Given the description of an element on the screen output the (x, y) to click on. 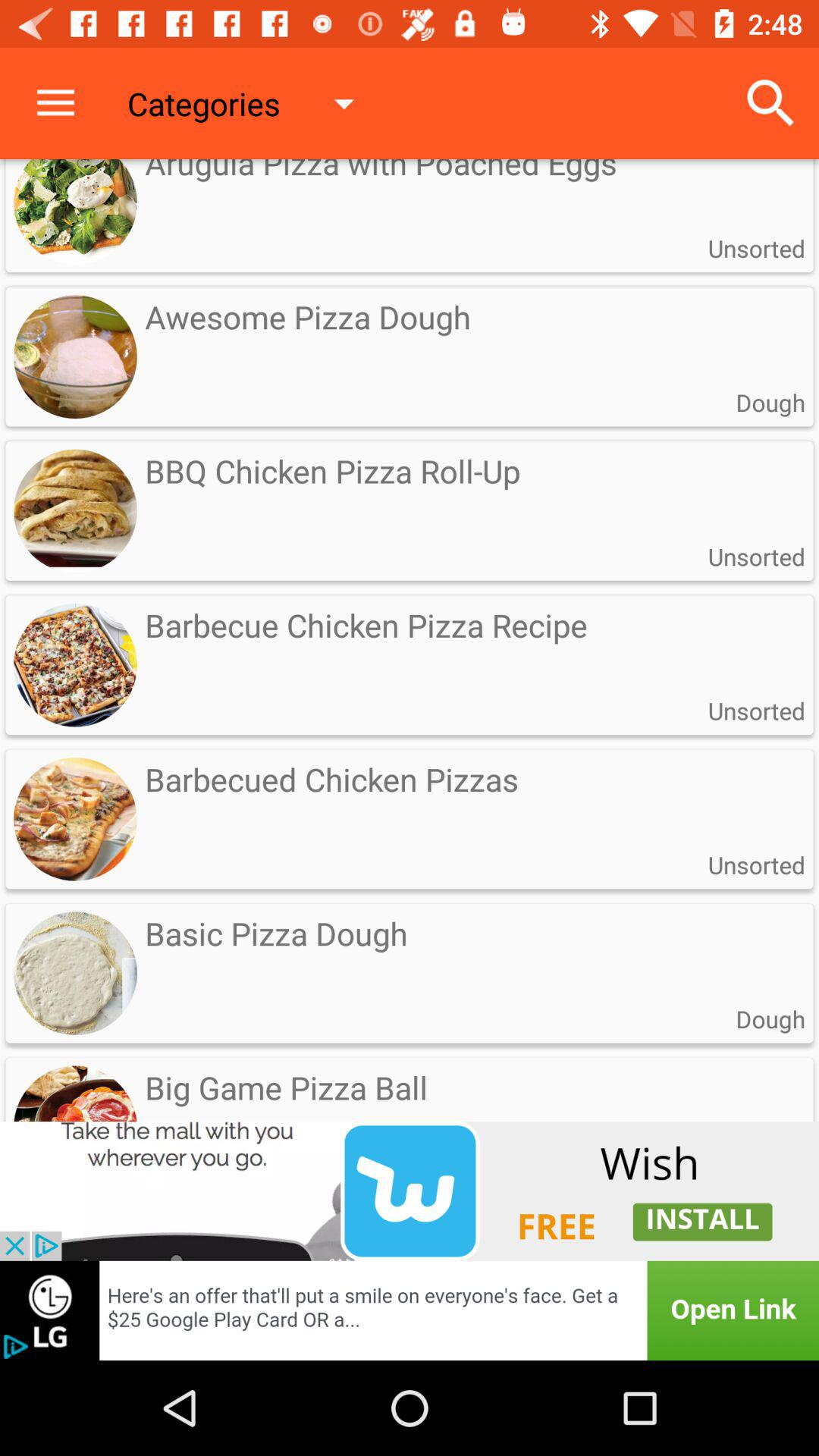
advertisement (409, 1310)
